Given the description of an element on the screen output the (x, y) to click on. 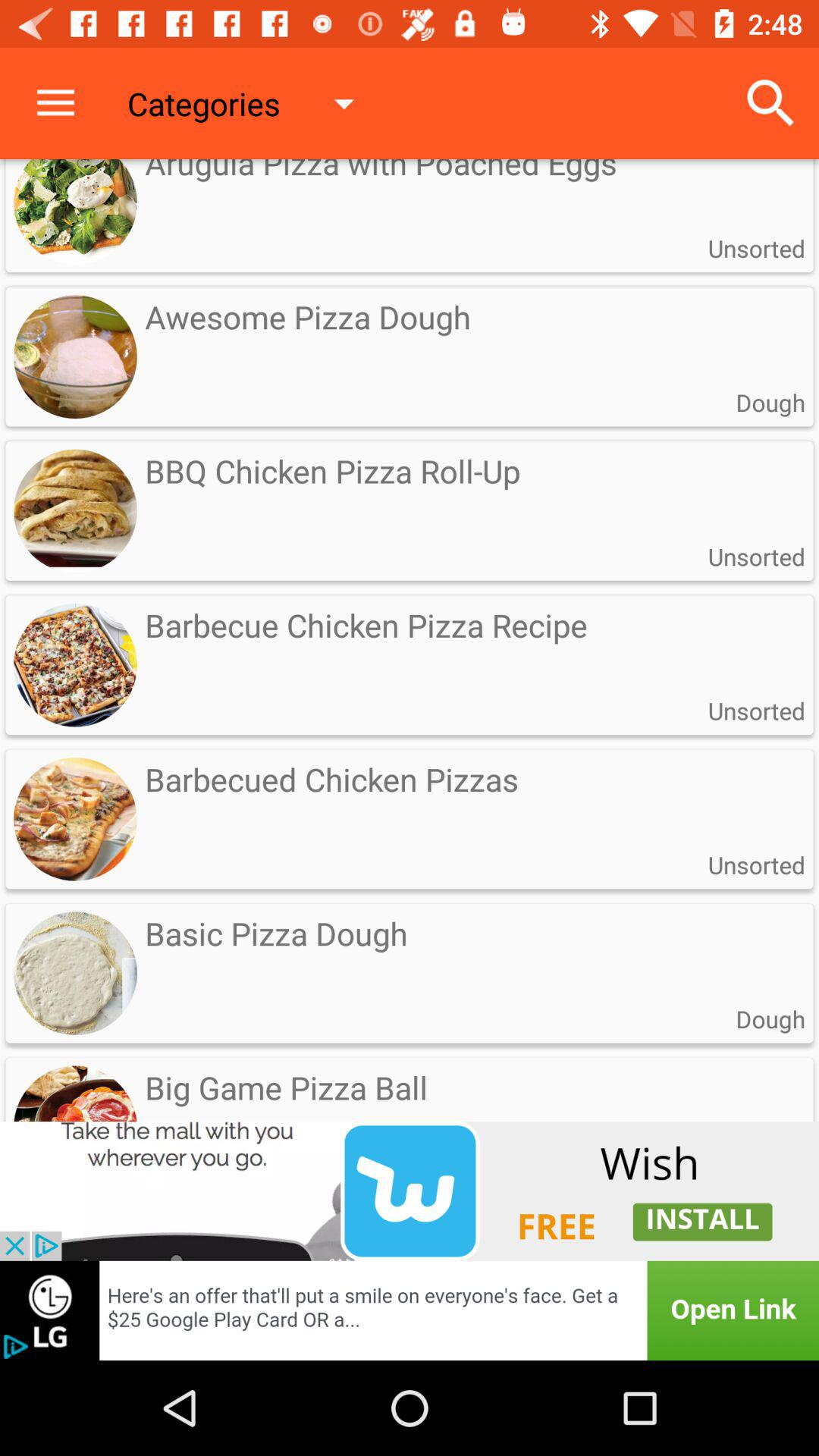
advertisement (409, 1310)
